Given the description of an element on the screen output the (x, y) to click on. 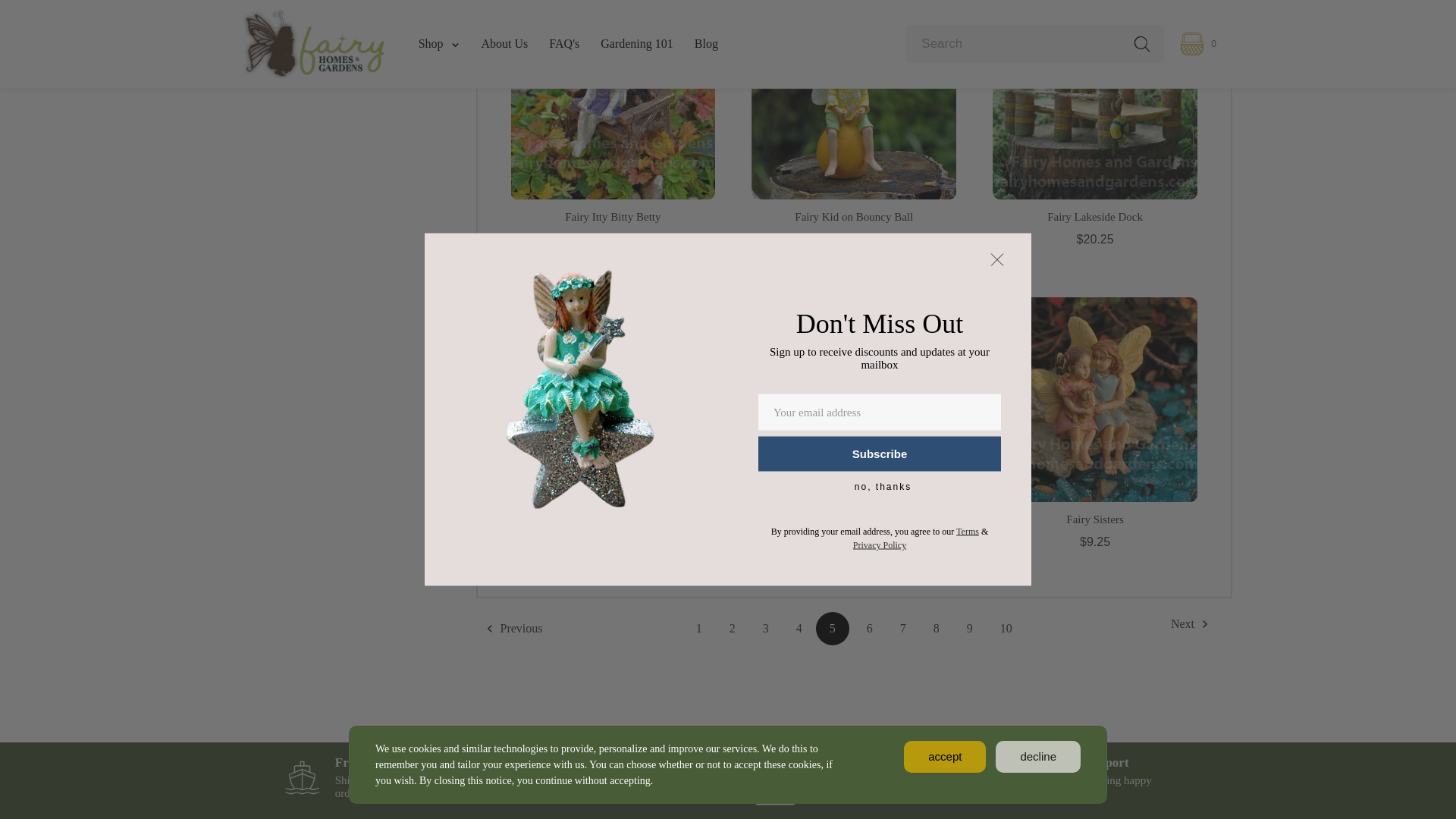
Fairy Kid on Bouncy Ball (853, 99)
Fairy Itty Bitty Betty In Tiny Chair (612, 99)
Fishing Dock for Fairy Gardens (1094, 99)
